Given the description of an element on the screen output the (x, y) to click on. 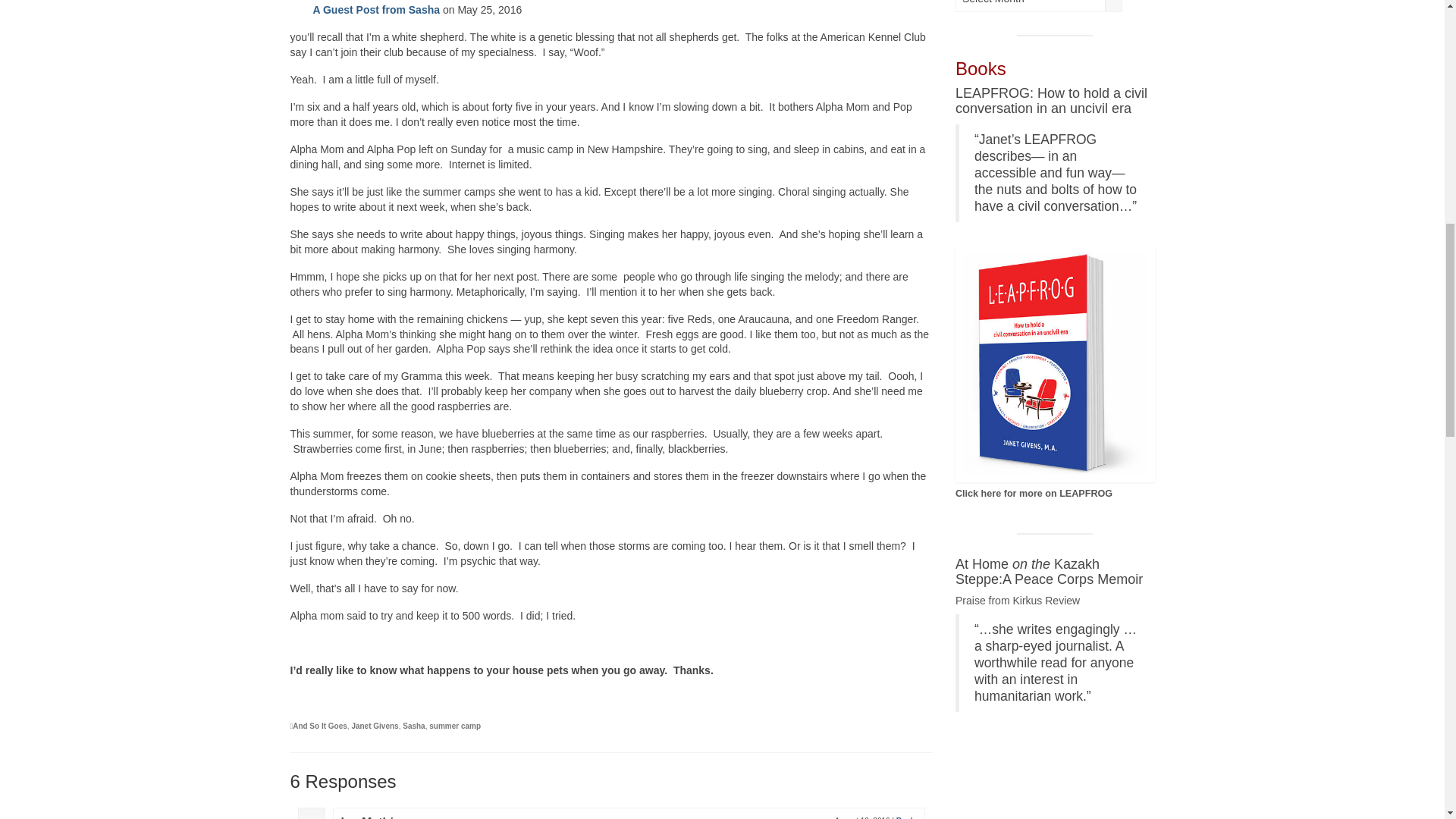
Select Month (1038, 6)
